Given the description of an element on the screen output the (x, y) to click on. 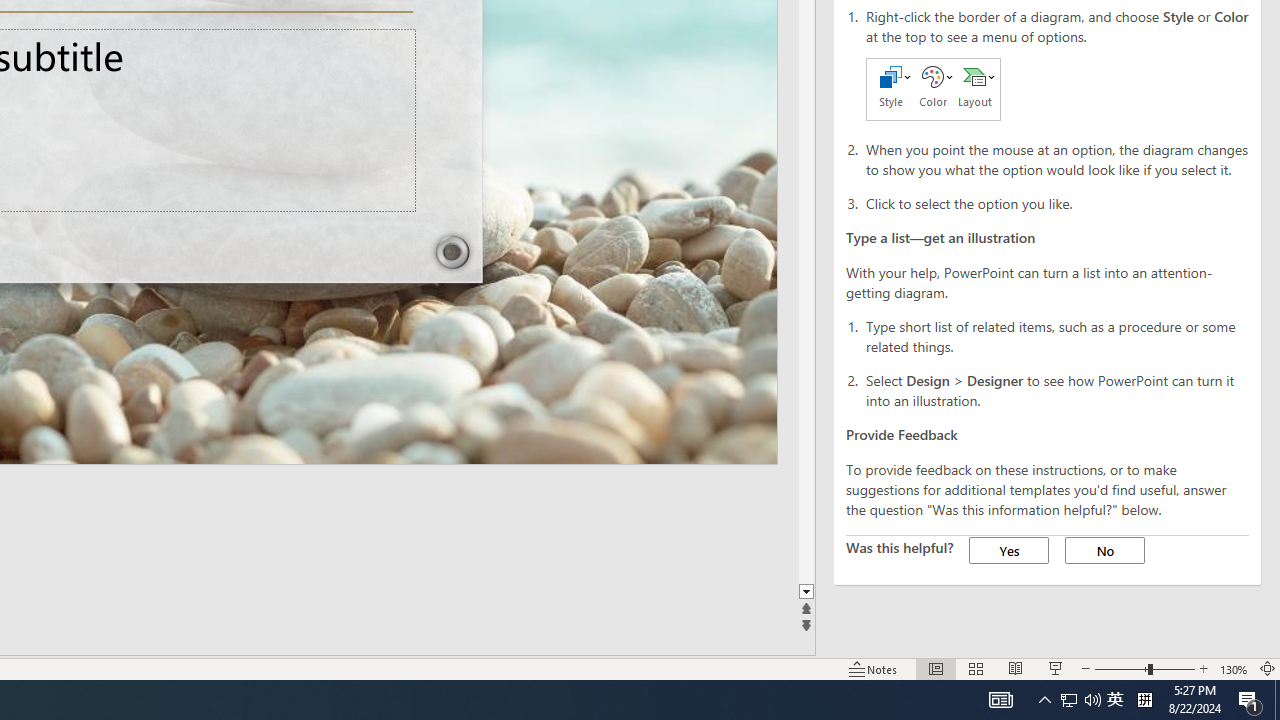
Click to select the option you like. (1057, 202)
